Given the description of an element on the screen output the (x, y) to click on. 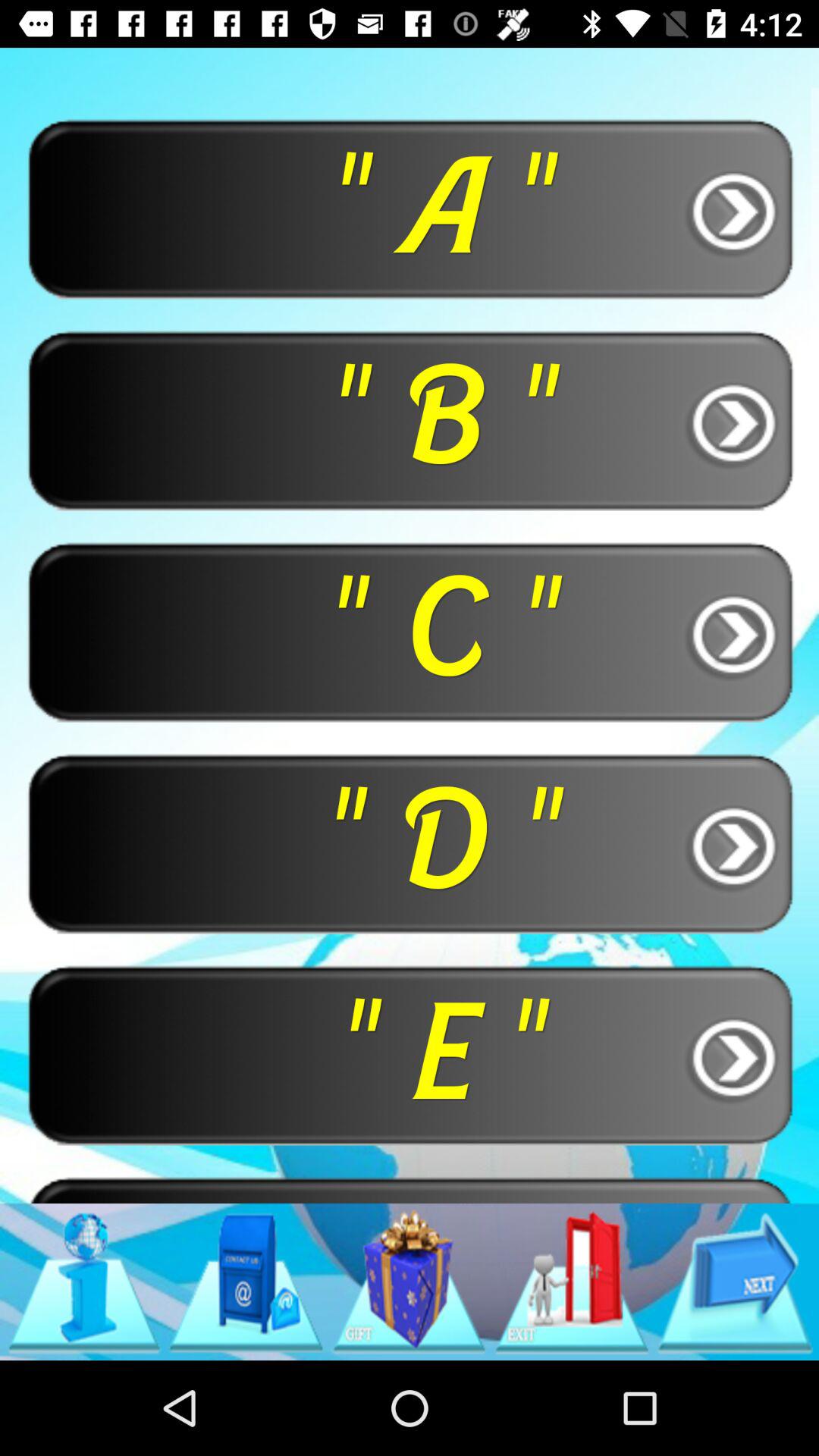
go to next (734, 1281)
